Given the description of an element on the screen output the (x, y) to click on. 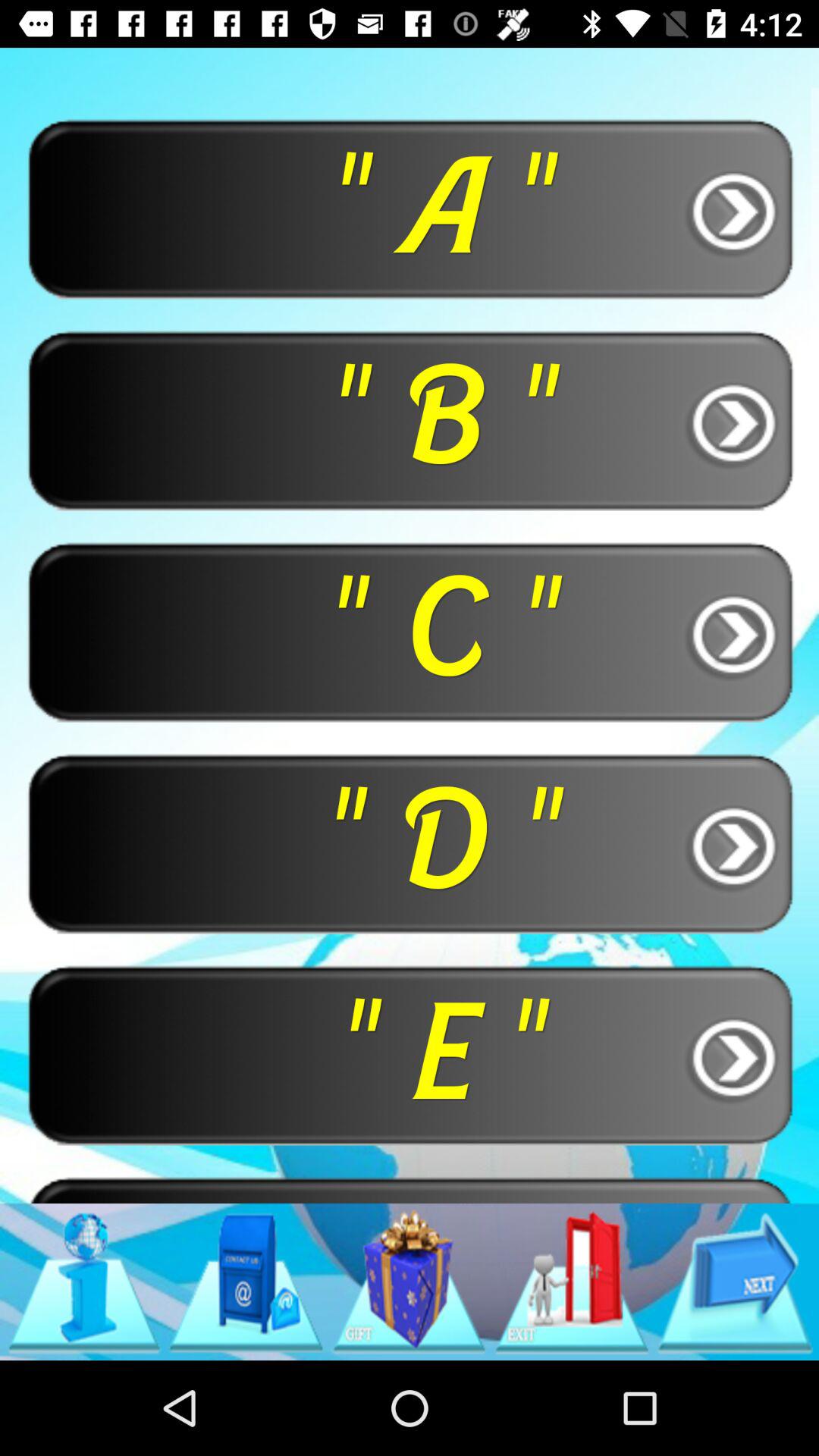
go to next (734, 1281)
